Given the description of an element on the screen output the (x, y) to click on. 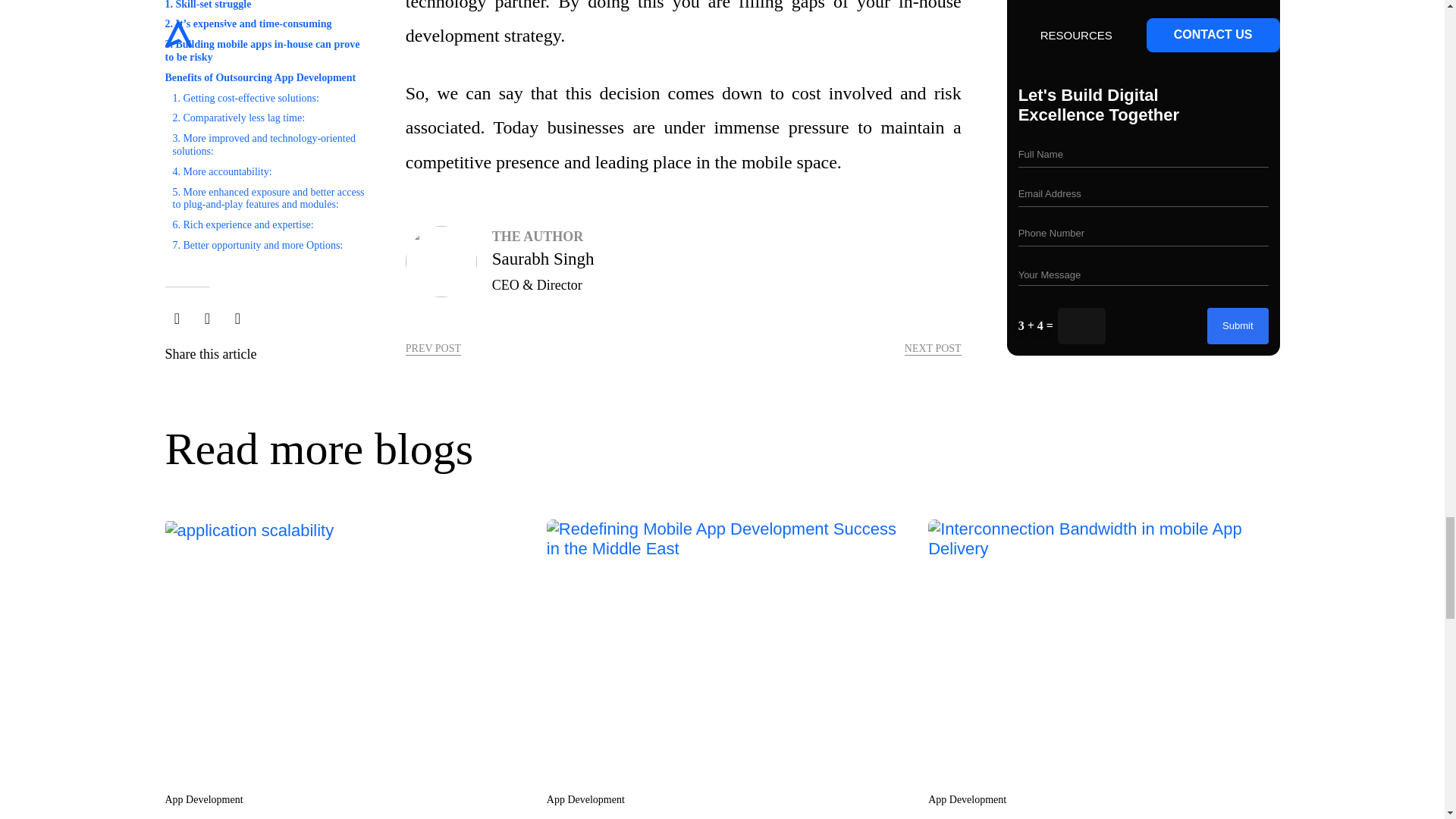
Top 5 Wearable Tech Startups Trending In 2016 (433, 349)
